Given the description of an element on the screen output the (x, y) to click on. 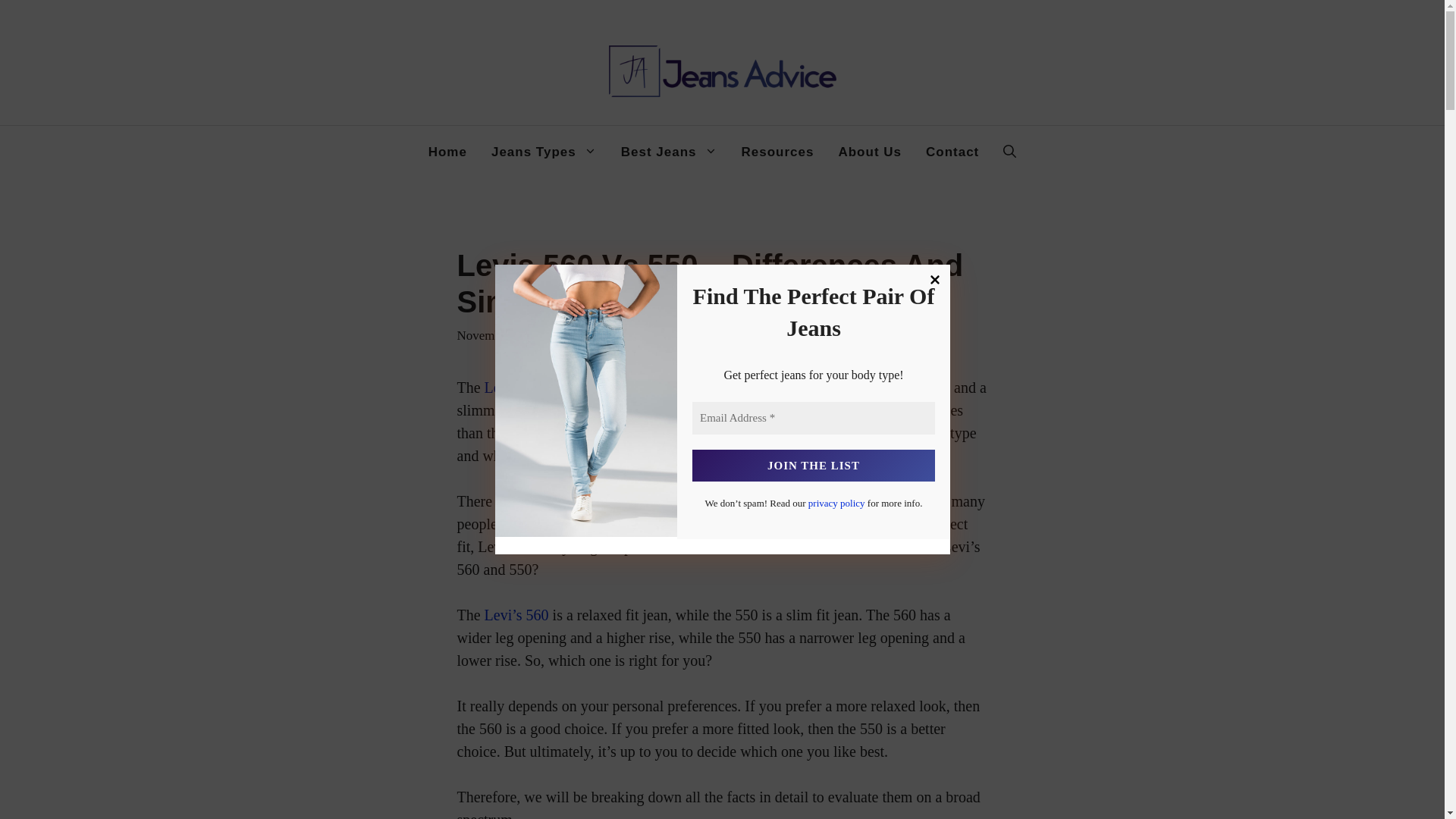
Email Address (812, 418)
View all posts by Jakaria Habib (614, 335)
JOIN THE LIST (812, 465)
Resources (778, 152)
privacy policy (836, 502)
Best Jeans (668, 152)
Jeans Types (543, 152)
JOIN THE LIST (812, 465)
Contact (952, 152)
Jakaria Habib (614, 335)
About Us (869, 152)
Home (447, 152)
Levis 560 (514, 387)
